Given the description of an element on the screen output the (x, y) to click on. 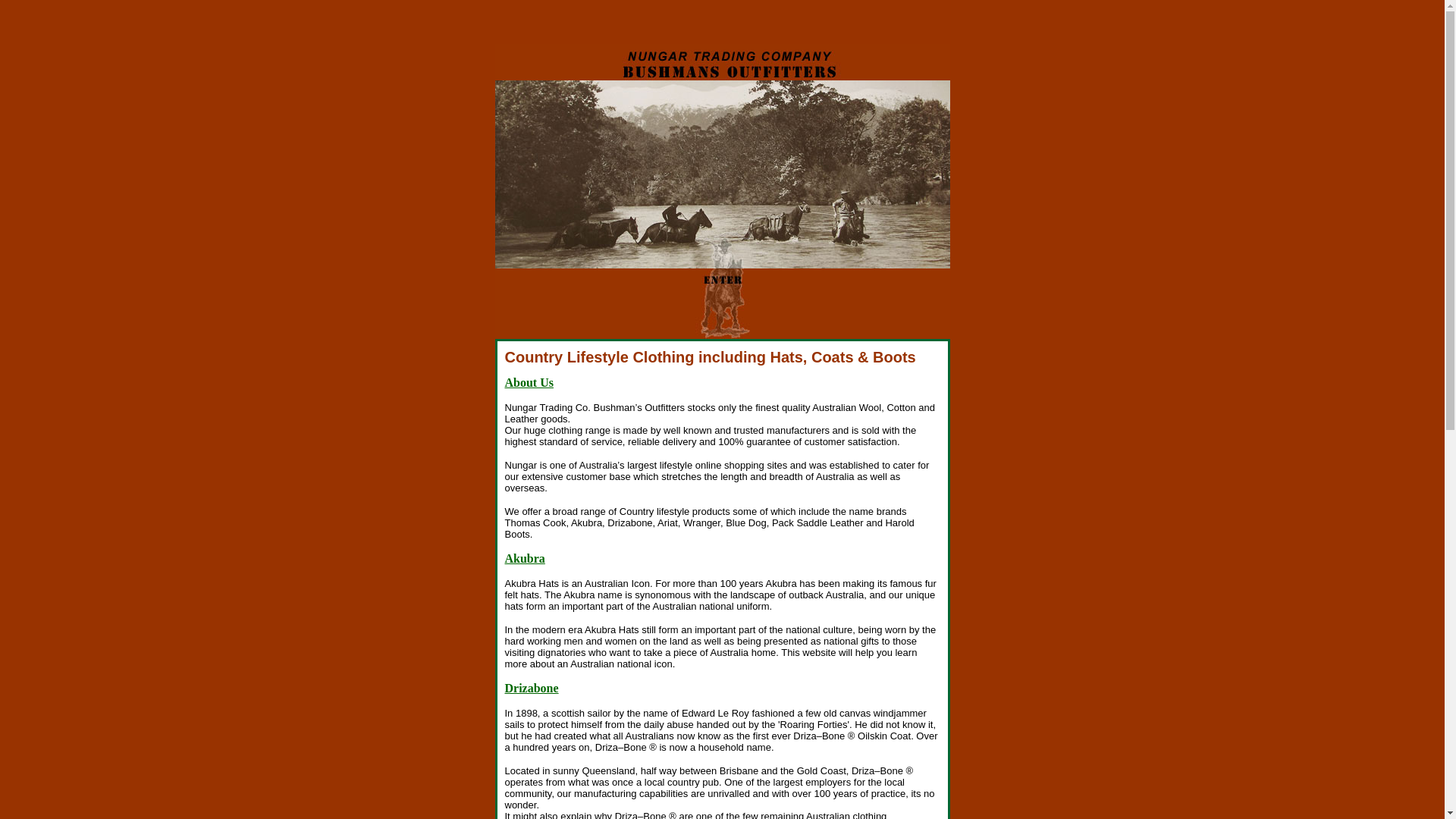
Akubra Element type: text (525, 558)
Drizabone Element type: text (531, 687)
About Us Element type: text (529, 382)
